Given the description of an element on the screen output the (x, y) to click on. 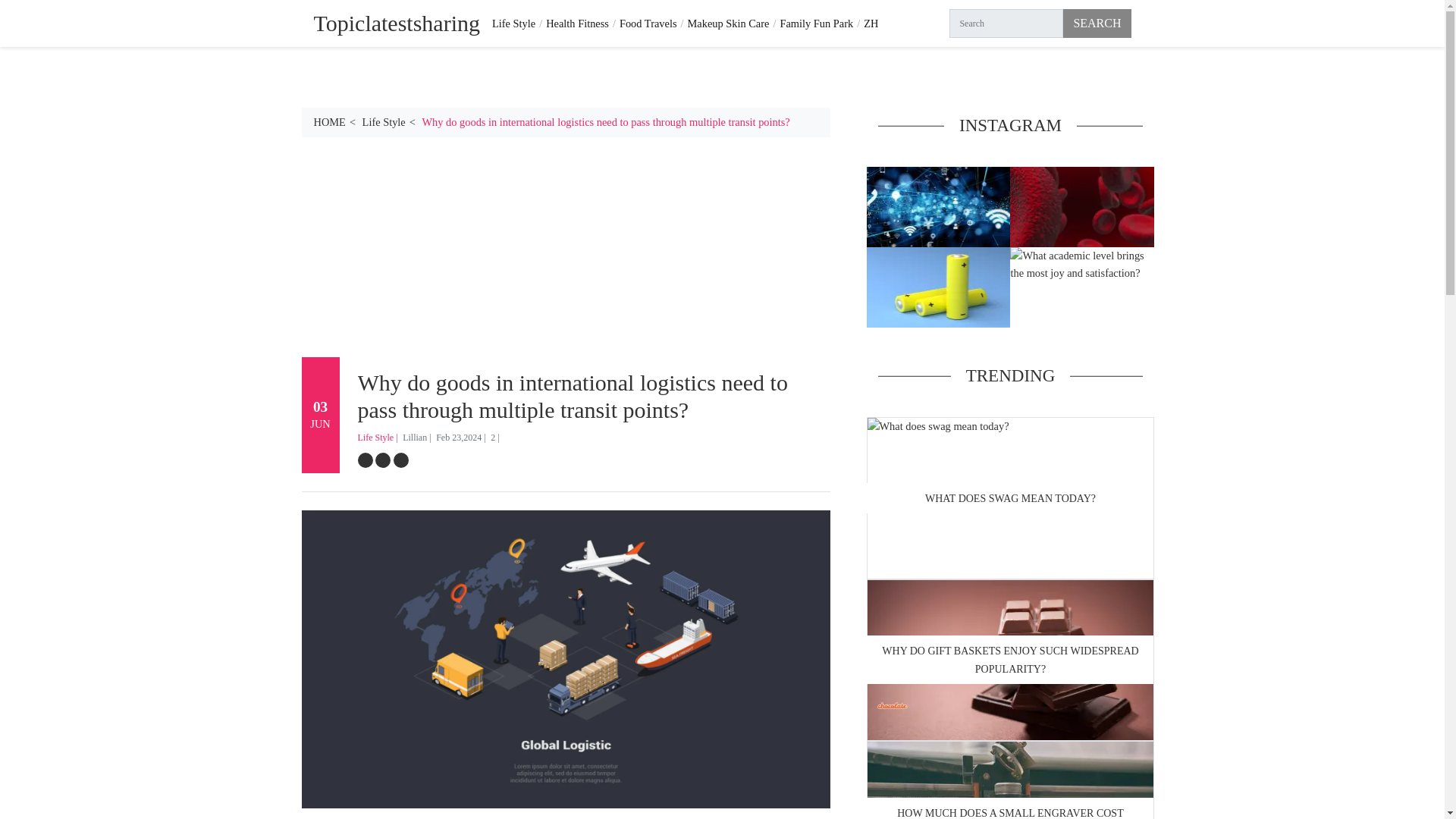
Life Style (519, 23)
WHY DO GIFT BASKETS ENJOY SUCH WIDESPREAD POPULARITY? (1010, 659)
Health Fitness (583, 23)
SEARCH (1096, 23)
Food Travels (653, 23)
WHAT DOES SWAG MEAN TODAY? (1010, 498)
Family Fun Park (820, 23)
Makeup Skin Care (732, 23)
HOW MUCH DOES A SMALL ENGRAVER COST WITHOUT ONE? (1009, 813)
Topiclatestsharing (397, 22)
Life Style (390, 121)
HOME (336, 121)
